Given the description of an element on the screen output the (x, y) to click on. 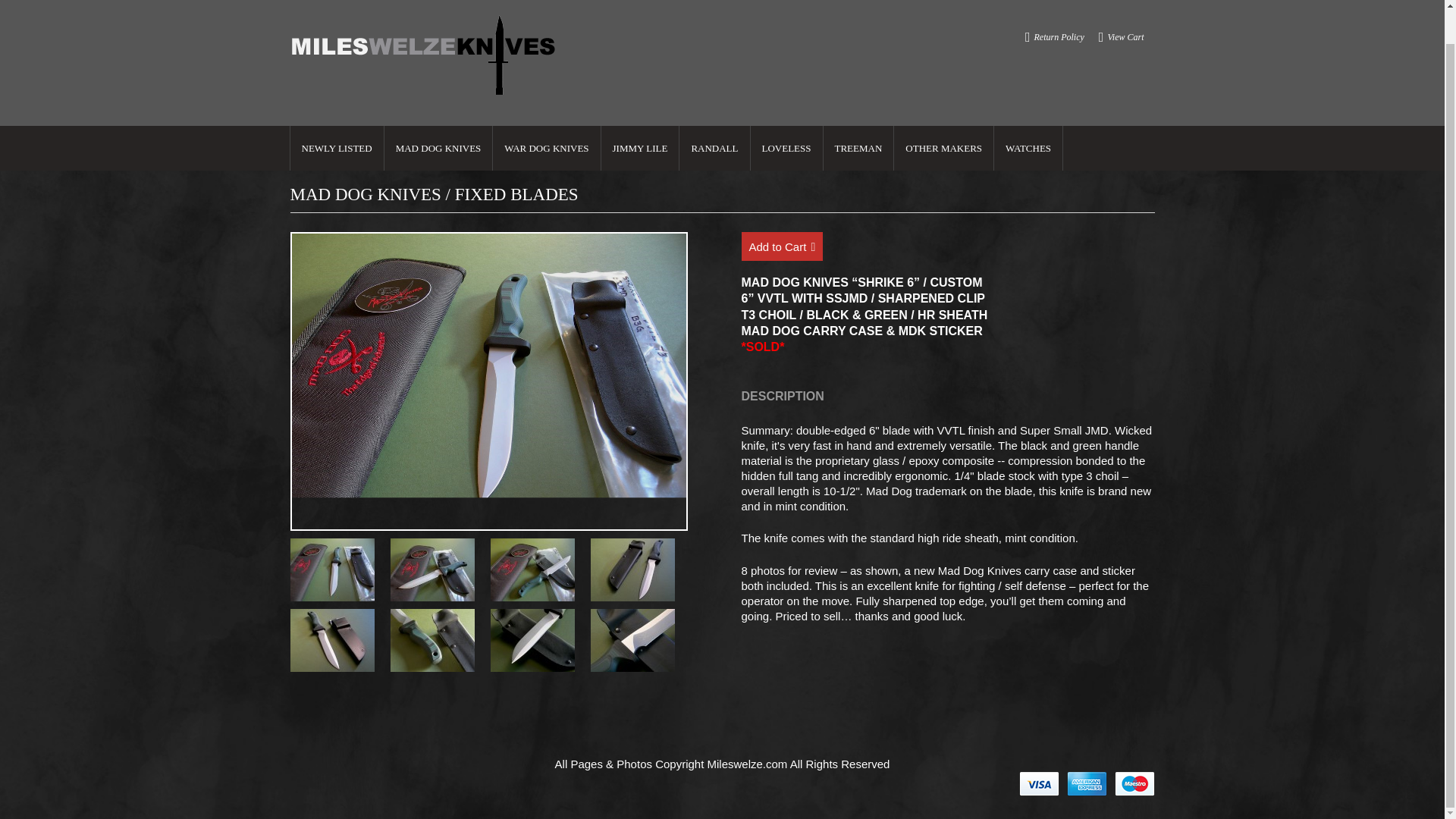
Return Policy (1058, 4)
payment (1086, 784)
View Cart (1124, 4)
Miles Welze (424, 33)
